Given the description of an element on the screen output the (x, y) to click on. 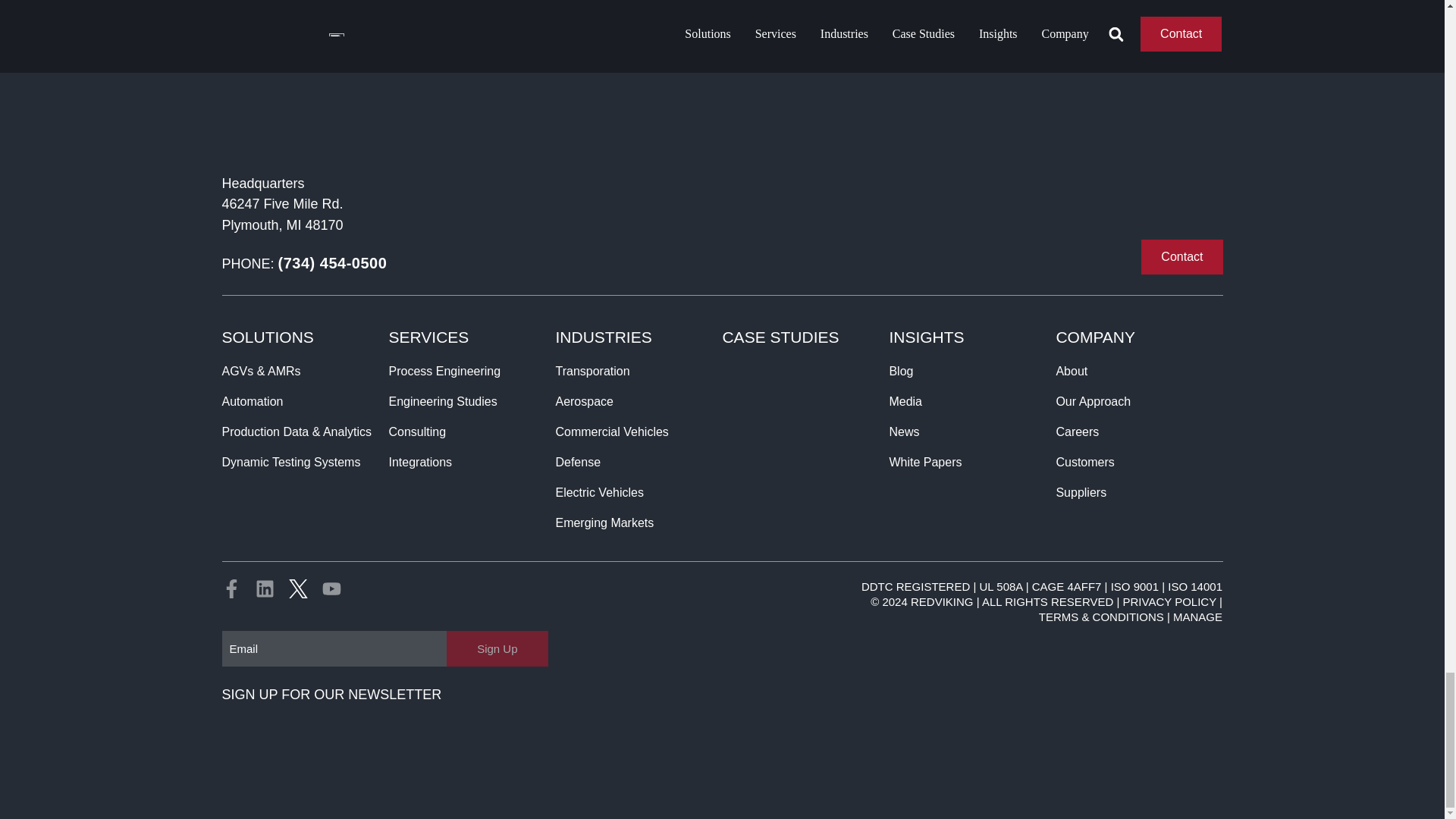
Sign Up (496, 648)
